Given the description of an element on the screen output the (x, y) to click on. 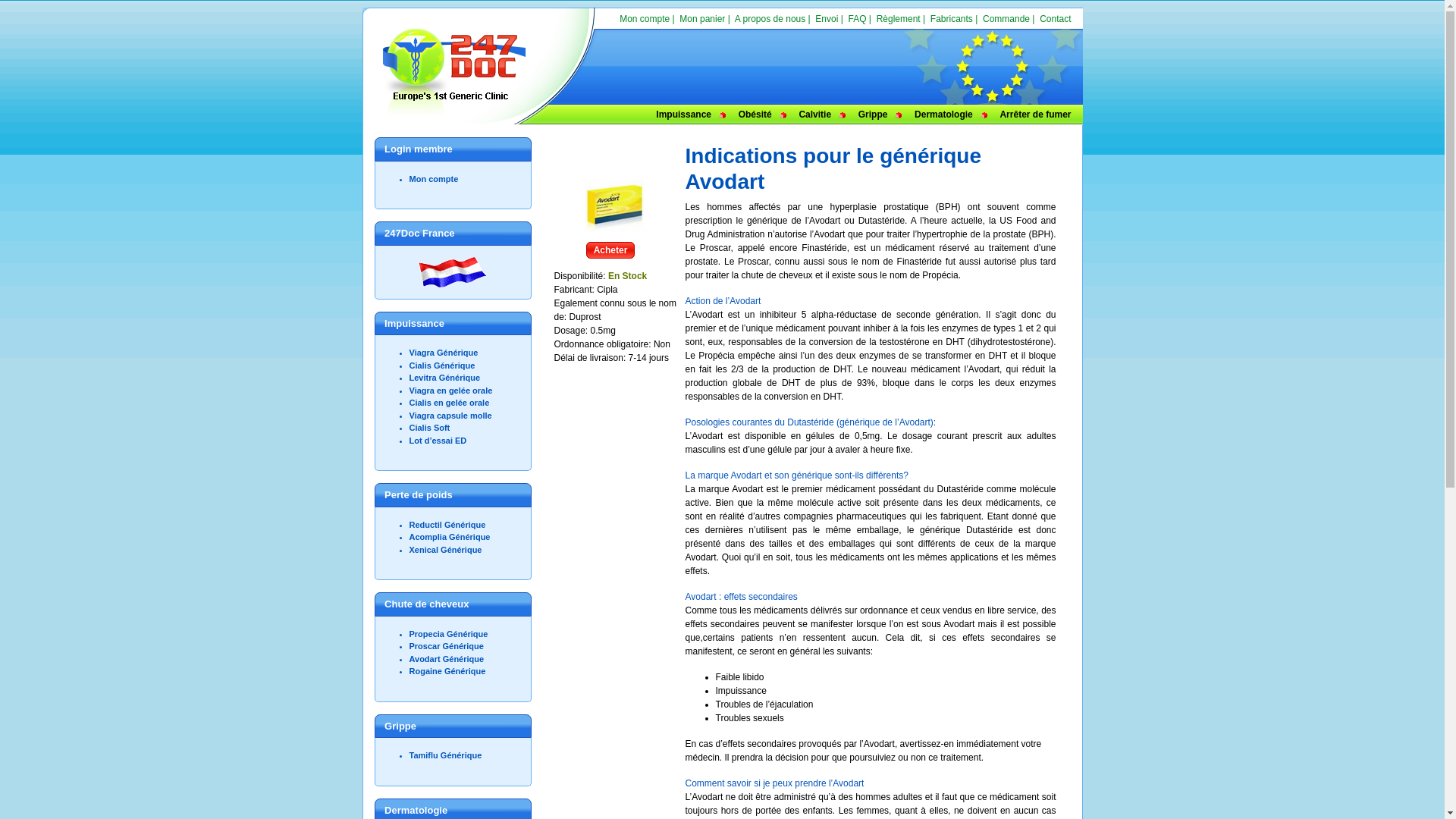
Cialis Soft Element type: text (429, 427)
Calvitie Element type: text (814, 114)
Envoi Element type: text (826, 18)
Commande Element type: text (1005, 18)
Mon compte Element type: text (433, 178)
Dermatologie Element type: text (943, 114)
Grippe Element type: text (873, 114)
Mon compte Element type: text (644, 18)
Impuissance Element type: text (683, 114)
Contact Element type: text (1054, 18)
Viagra capsule molle Element type: text (450, 415)
FAQ Element type: text (857, 18)
Fabricants Element type: text (951, 18)
A propos de nous Element type: text (769, 18)
Mon panier Element type: text (701, 18)
Acheter Element type: text (610, 249)
